Given the description of an element on the screen output the (x, y) to click on. 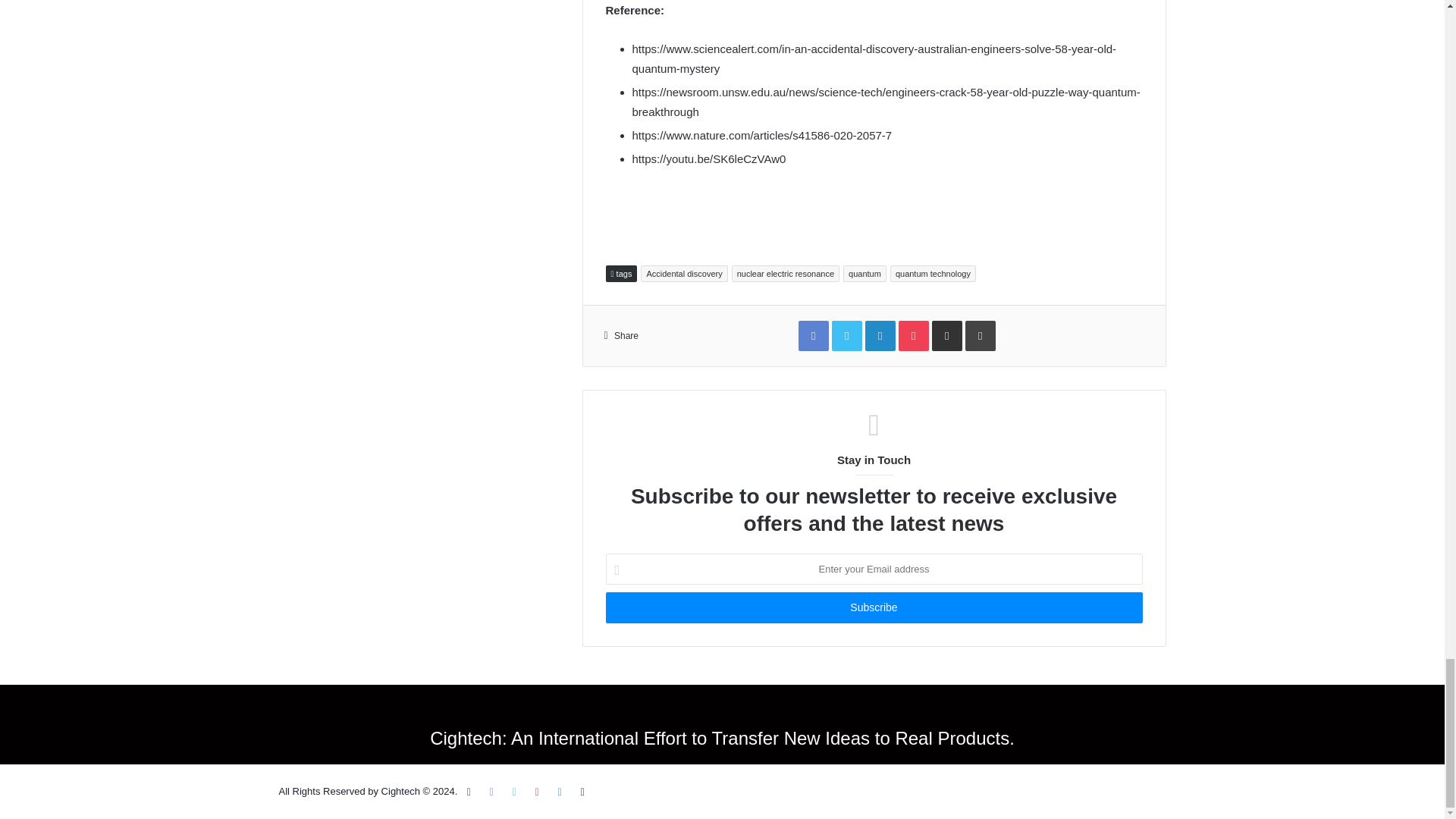
Facebook (491, 791)
Twitter (513, 791)
LinkedIn (559, 791)
Subscribe (873, 607)
Pinterest (536, 791)
